Given the description of an element on the screen output the (x, y) to click on. 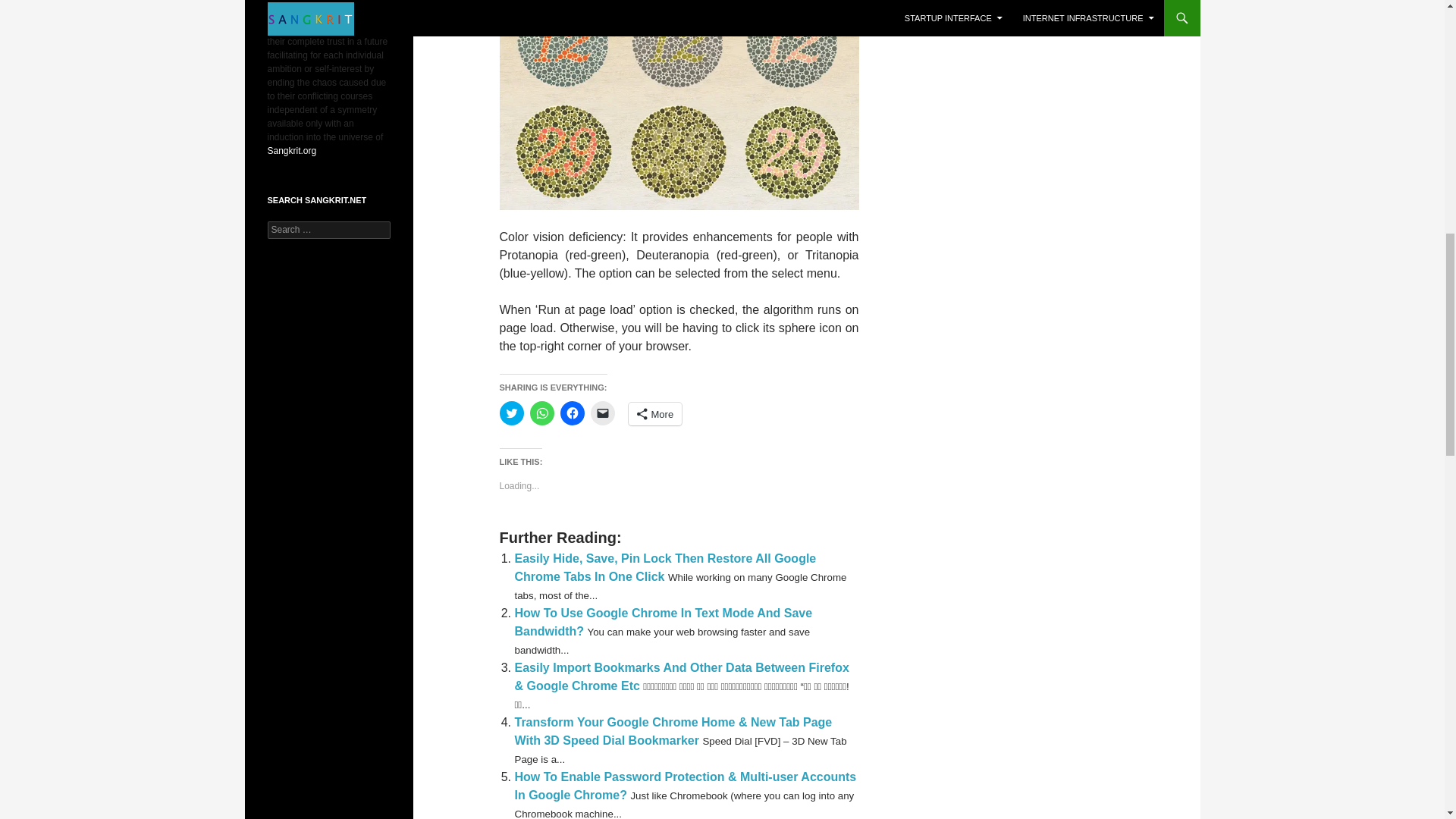
Click to share on WhatsApp (541, 413)
More (654, 413)
Click to email a link to a friend (601, 413)
Click to share on Facebook (571, 413)
Click to share on Twitter (510, 413)
